Given the description of an element on the screen output the (x, y) to click on. 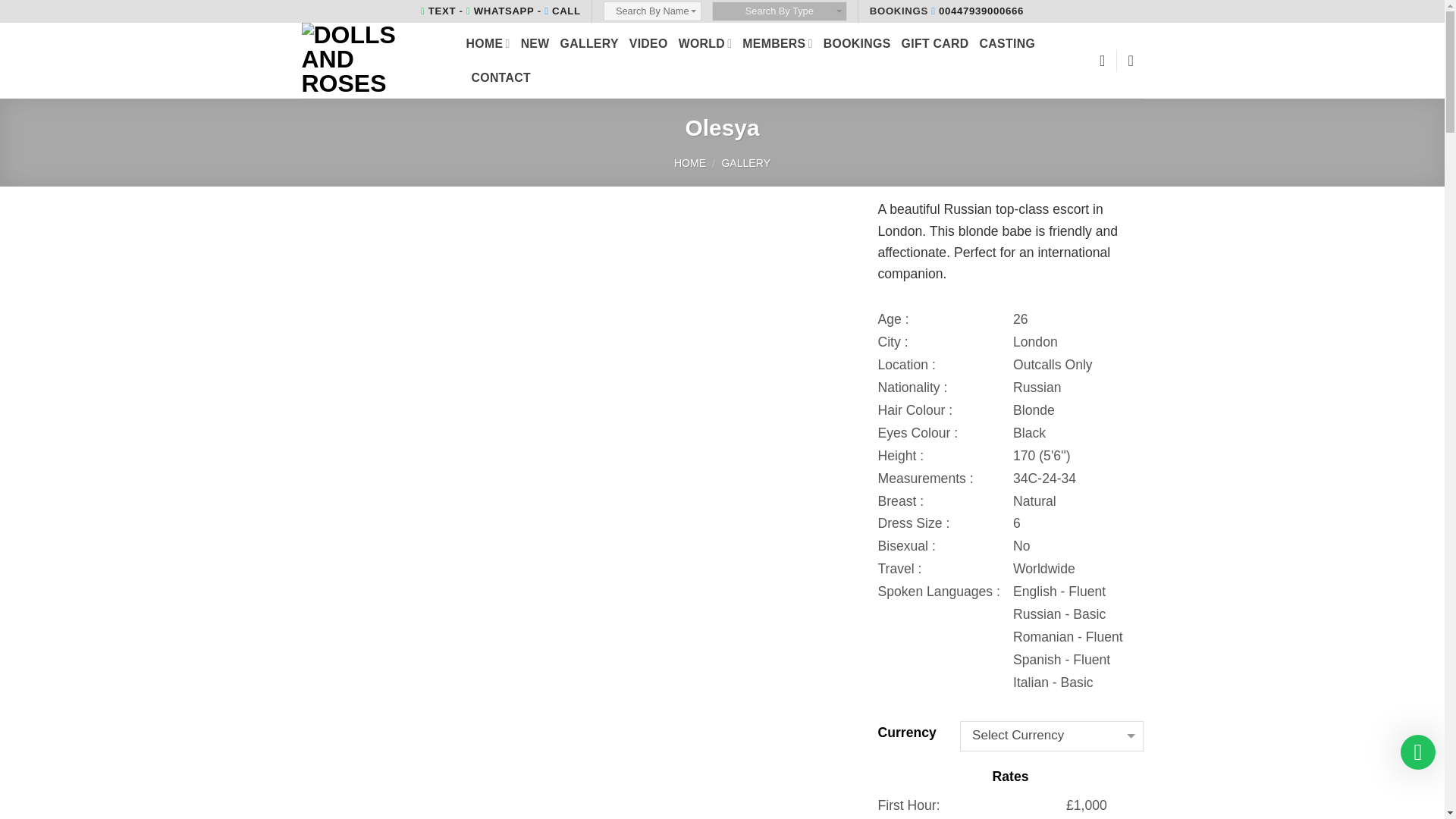
BOOKINGS (857, 43)
WHATSAPP (499, 10)
HOME (487, 43)
CASTING (1007, 43)
CONTACT (501, 77)
MEMBERS (777, 43)
VIDEO (648, 43)
CALL (562, 10)
00447939000666 (977, 10)
WORLD (705, 43)
GALLERY (589, 43)
GIFT CARD (935, 43)
DOLLS AND ROSES (372, 60)
TEXT (437, 10)
